Given the description of an element on the screen output the (x, y) to click on. 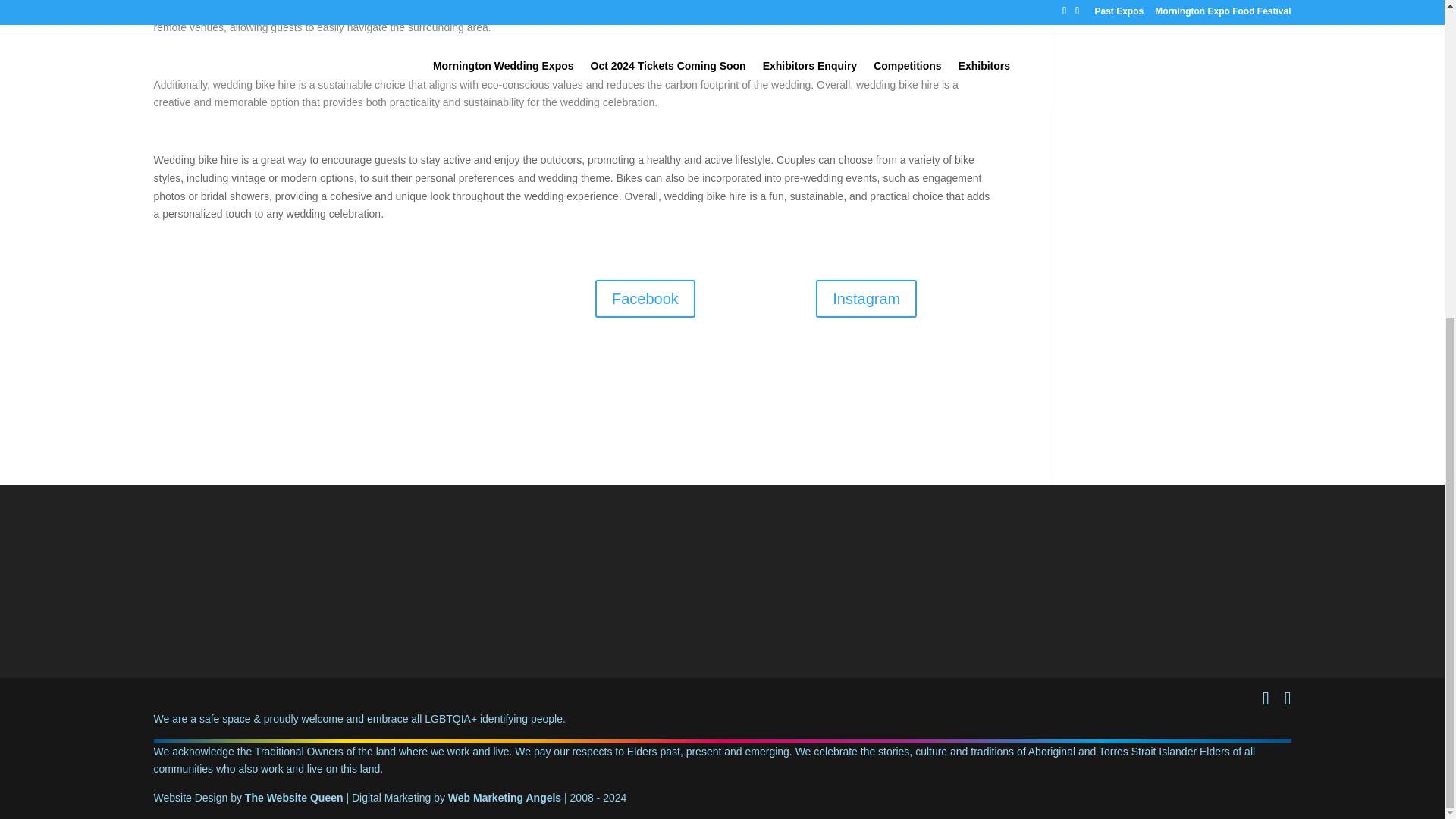
Melbourne Digital Marketing Services (504, 797)
The Website Queen (293, 797)
Facebook (645, 298)
Melbourne Website Design (293, 797)
Web Marketing Angels (504, 797)
Instagram (866, 298)
